Given the description of an element on the screen output the (x, y) to click on. 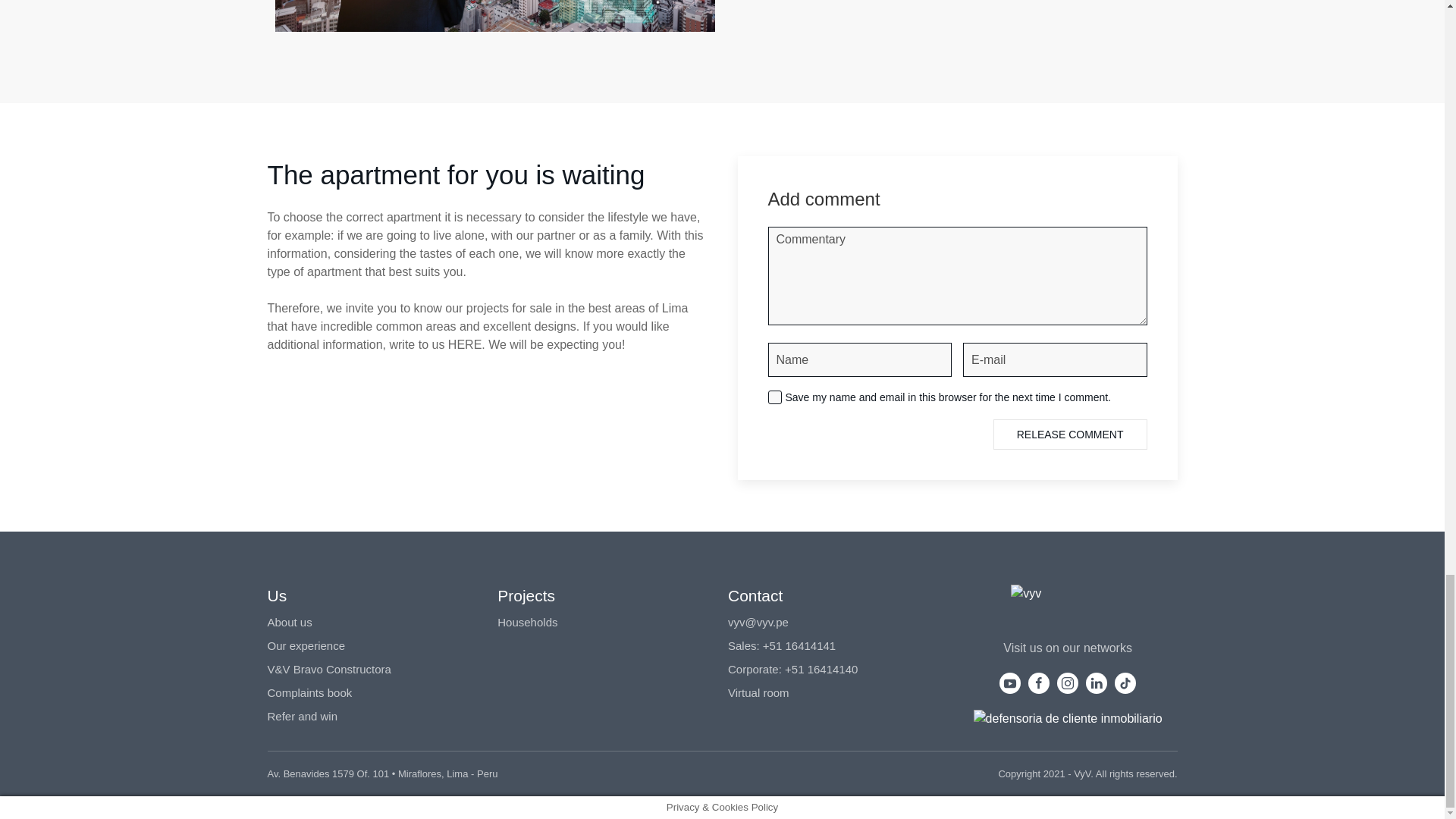
yes (773, 397)
RELEASE COMMENT (1069, 434)
About us (288, 621)
Our experience (305, 645)
